Given the description of an element on the screen output the (x, y) to click on. 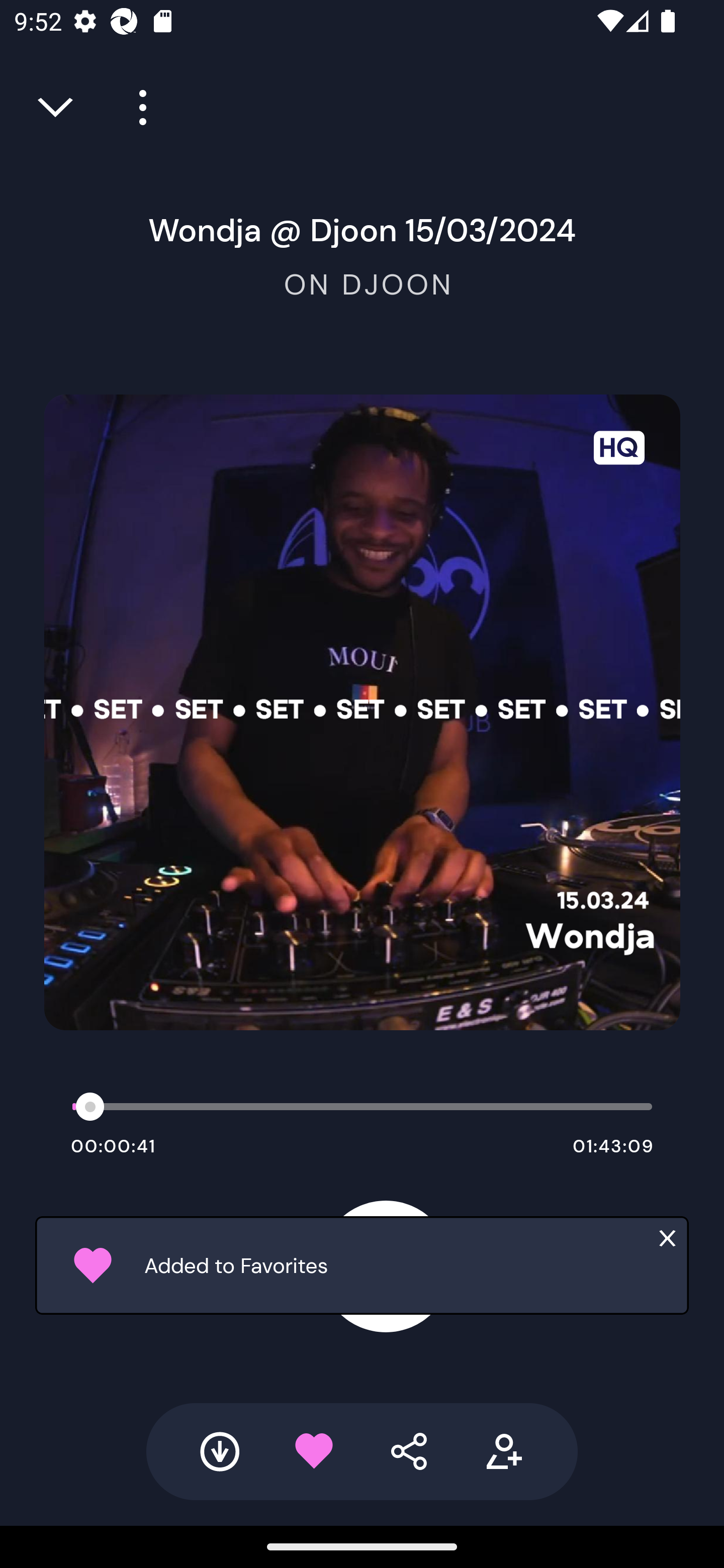
Close full player (57, 107)
Player more options button (136, 107)
 ON DJOON Wondja @ Djoon 15/03/2024  ON DJOON (361, 254)
Blues (361, 1262)
